Given the description of an element on the screen output the (x, y) to click on. 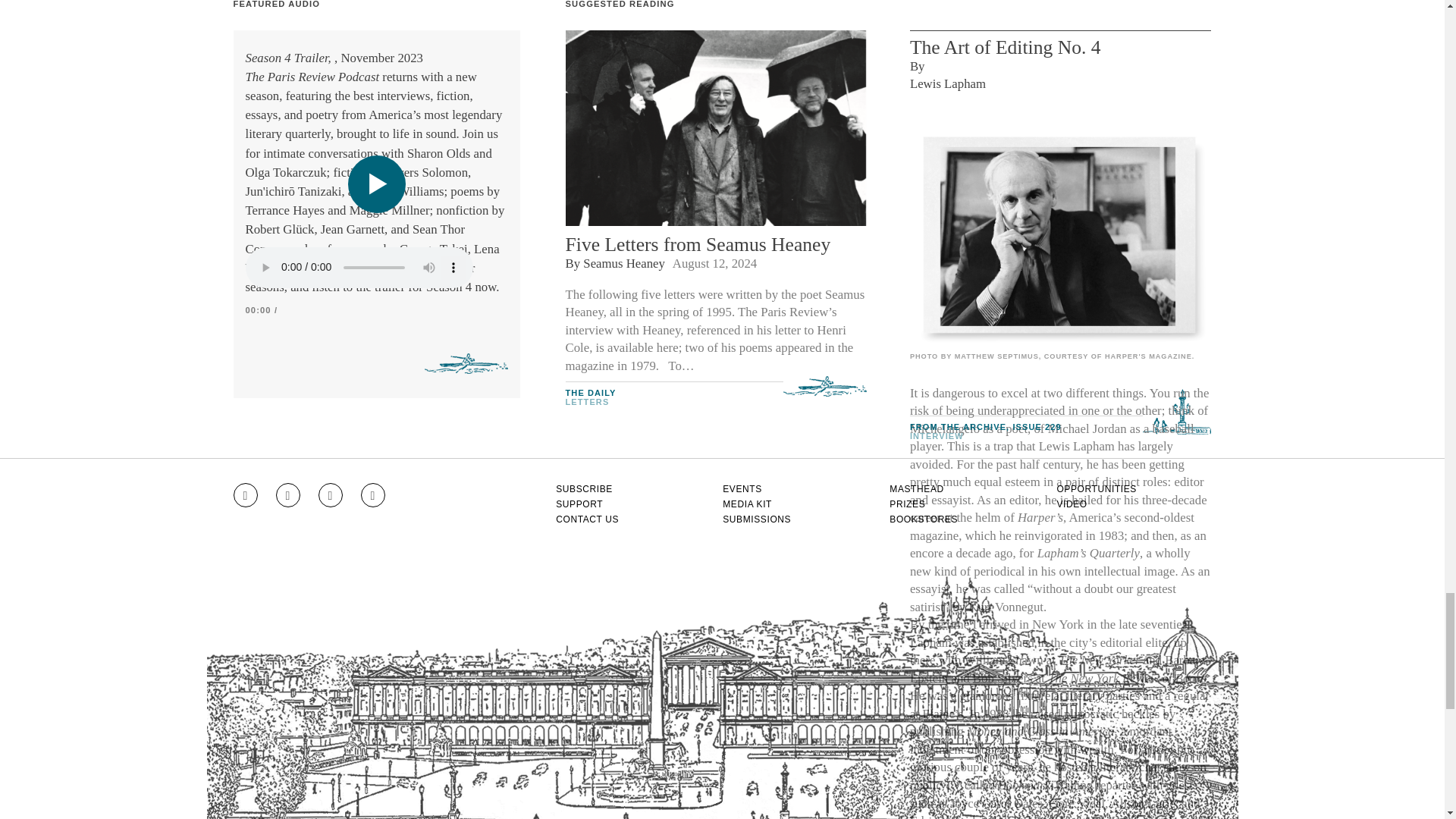
Go to Twitter feed (330, 494)
Go to Facebook page (287, 494)
Go to Instagram feed (244, 494)
undefined (1060, 234)
Go to RSS feed (373, 494)
